Given the description of an element on the screen output the (x, y) to click on. 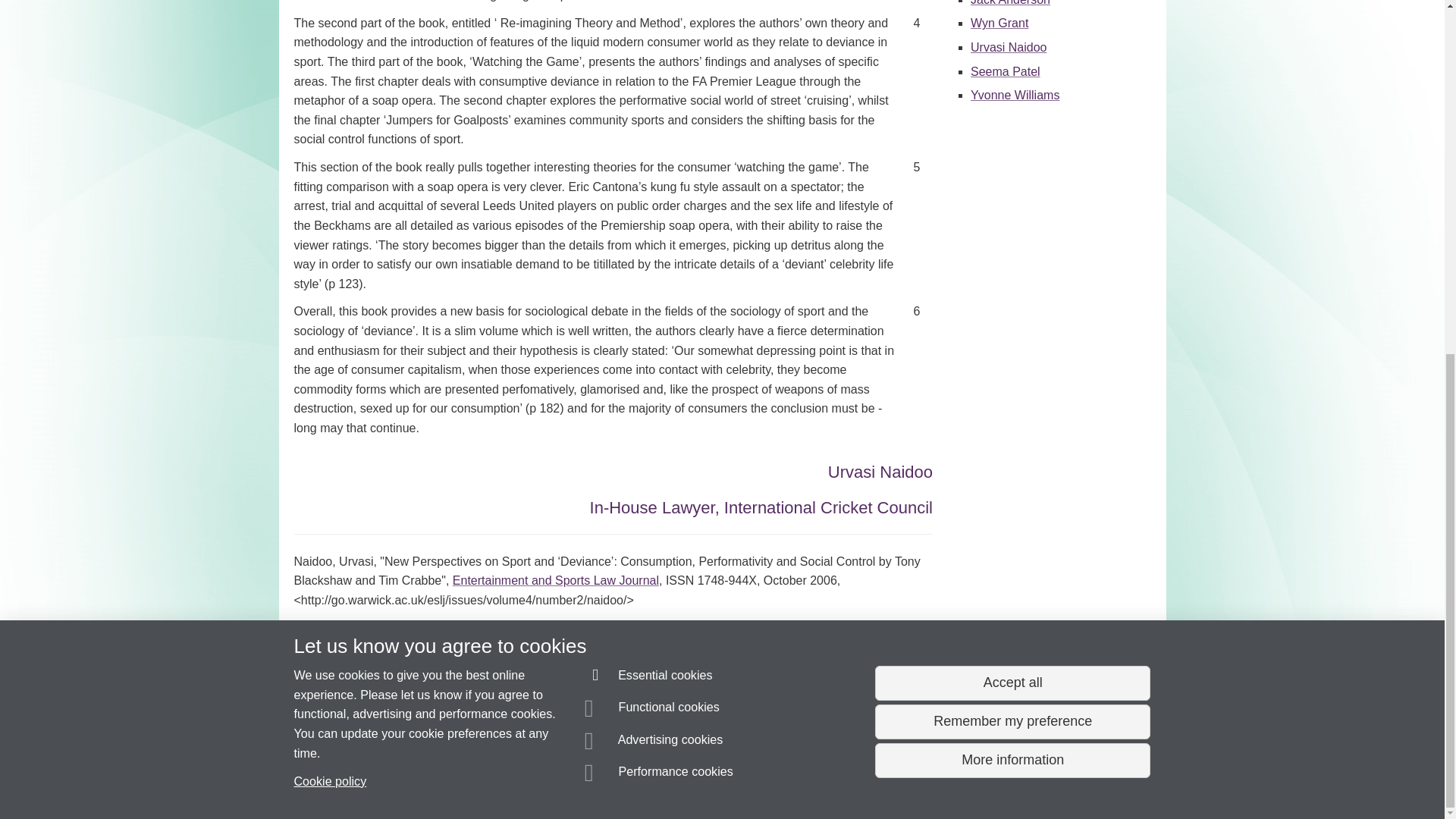
Send an email to Paul Trimmer (379, 751)
More information about SiteBuilder (365, 780)
Terms of use (708, 780)
Information about cookies (467, 780)
Essential cookies are always on (649, 58)
Privacy notice (673, 780)
Entertainment and Sports Law Journal (555, 580)
Accept all functional, advertising and performance cookies (1012, 63)
Copyright Statement (514, 780)
